Given the description of an element on the screen output the (x, y) to click on. 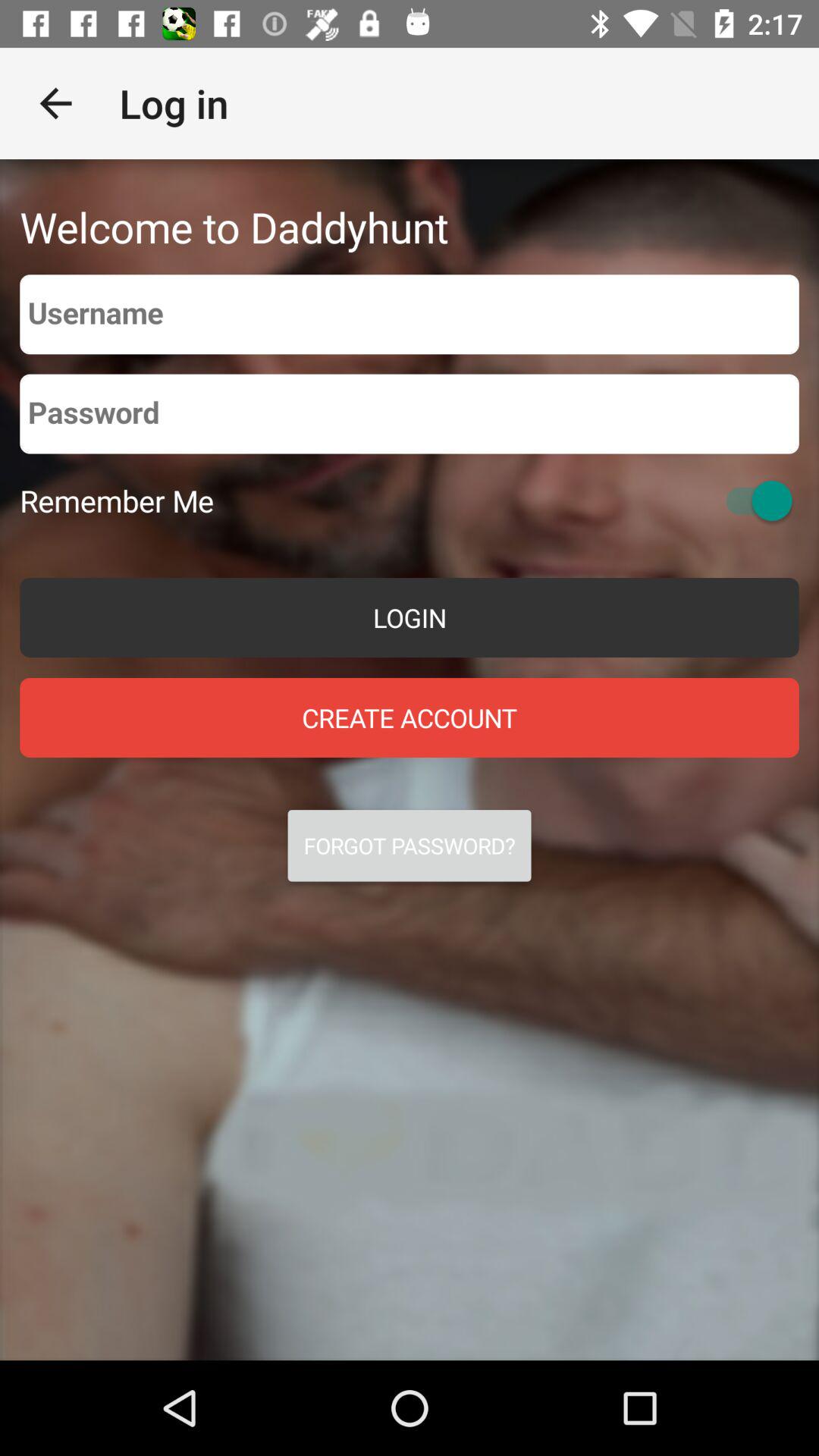
turn on the icon below the login (409, 717)
